Given the description of an element on the screen output the (x, y) to click on. 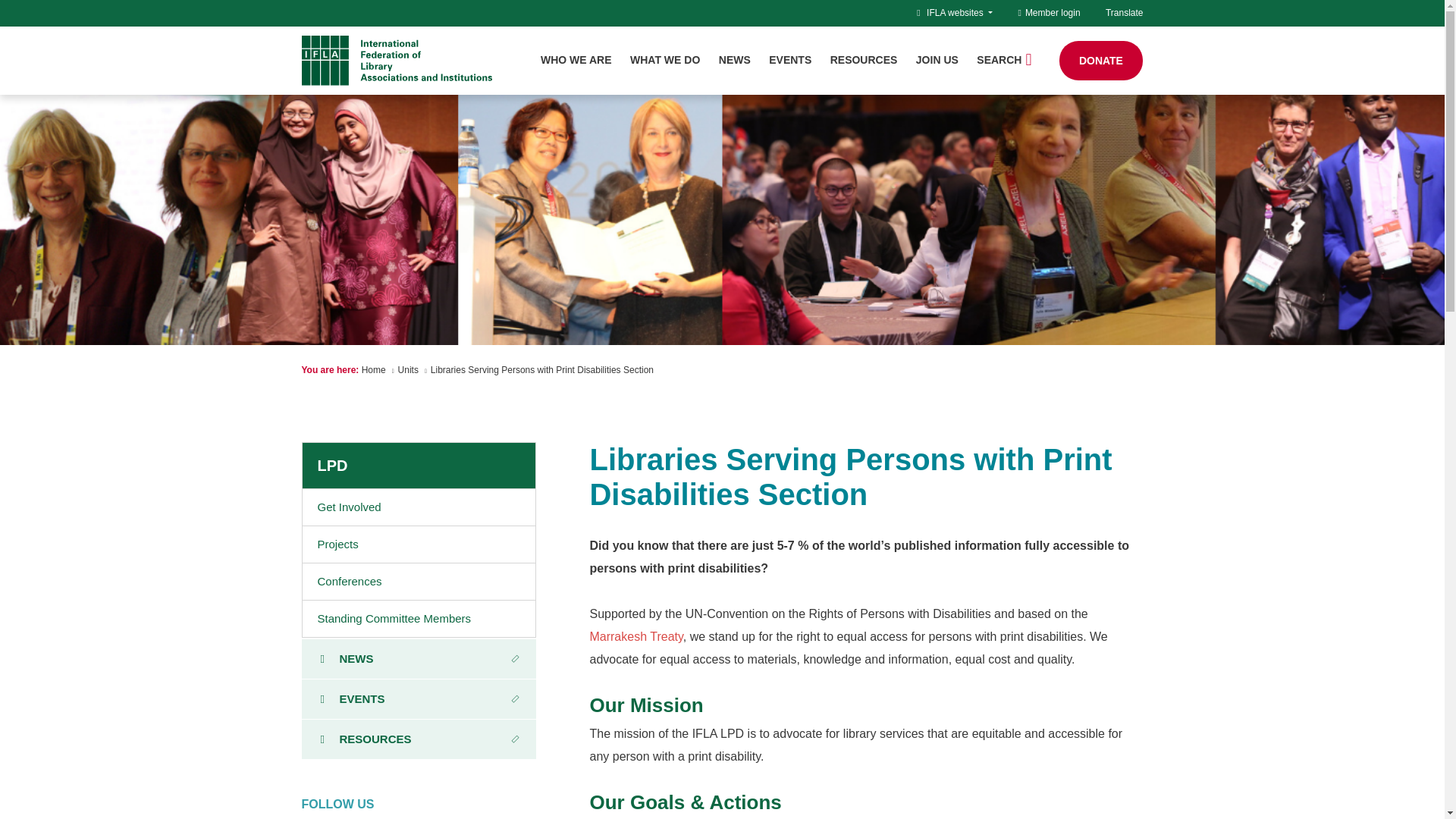
Member login (1048, 12)
Libraries Serving Persons with Print Disabilities Section (541, 369)
RESOURCES (863, 60)
units (408, 369)
DONATE (1100, 60)
WHO WE ARE (575, 60)
Translate (1123, 12)
IFLA websites (959, 12)
Home (373, 369)
WHAT WE DO (665, 60)
